Given the description of an element on the screen output the (x, y) to click on. 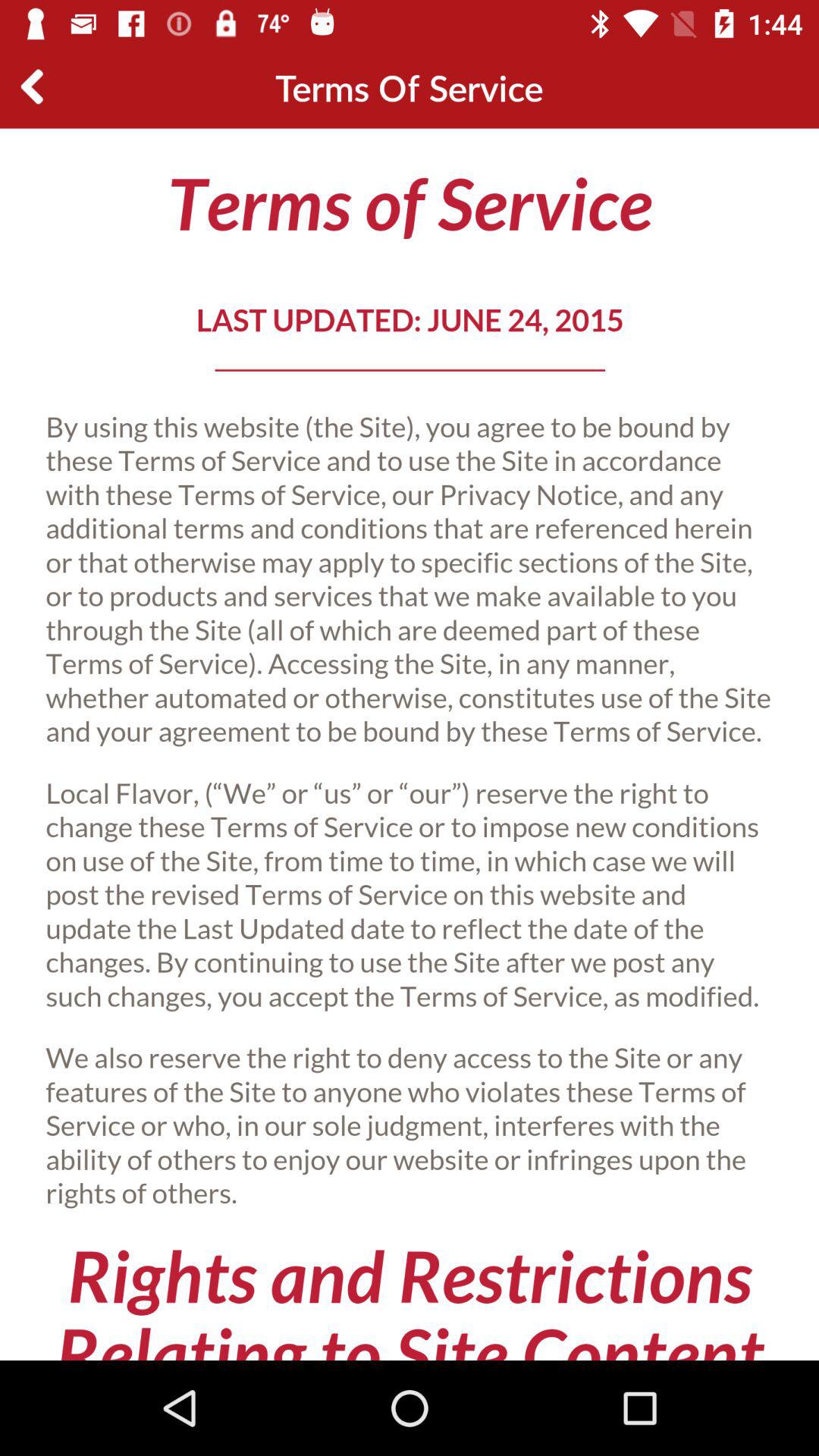
click the terms of service (409, 744)
